Given the description of an element on the screen output the (x, y) to click on. 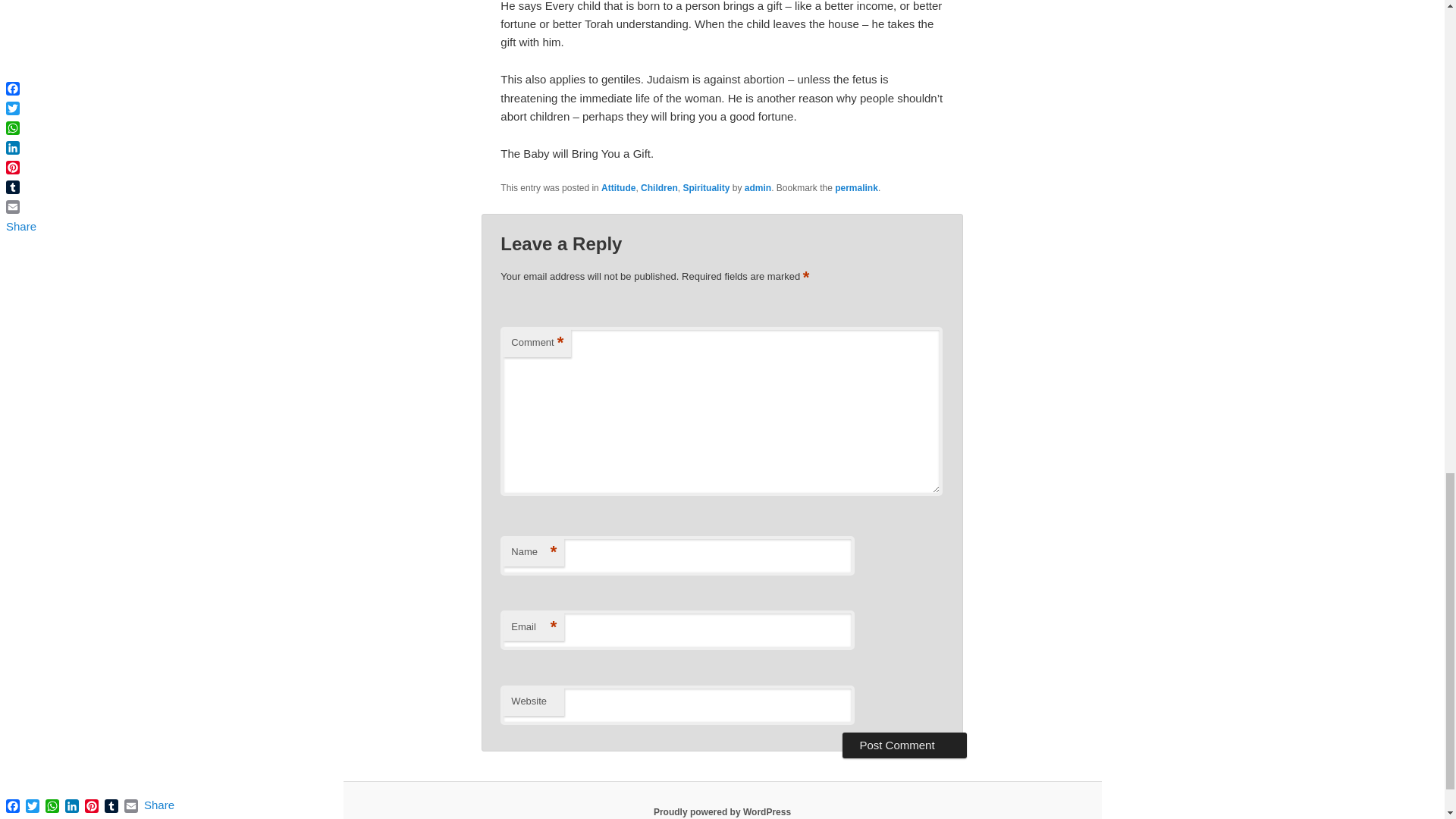
Semantic Personal Publishing Platform (721, 811)
Permalink to The Baby Brought You a Gift (855, 187)
Post Comment (904, 745)
